Given the description of an element on the screen output the (x, y) to click on. 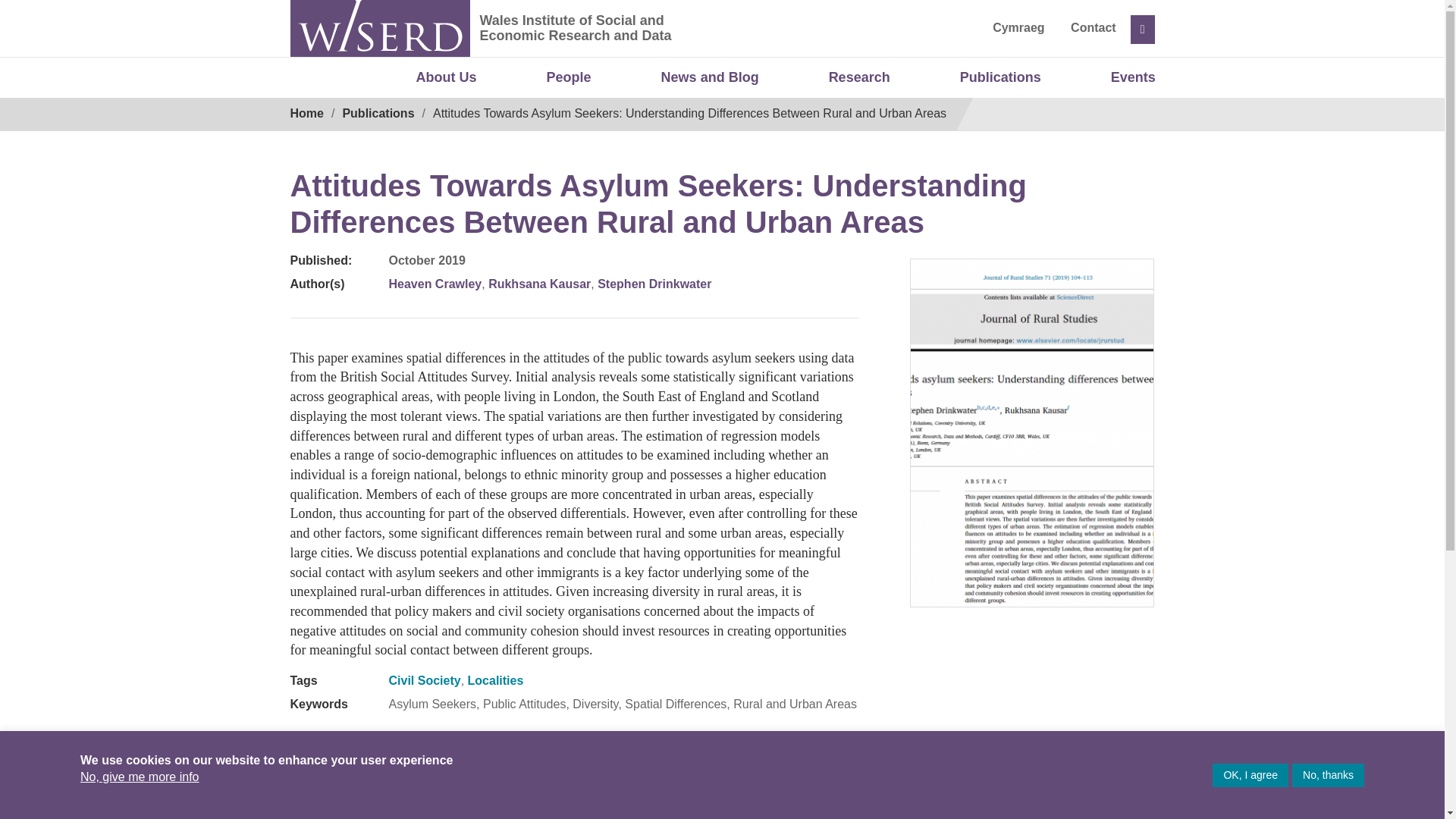
Contact (1092, 27)
Cymraeg (1018, 27)
Civil Society (424, 680)
Heaven Crawley (434, 283)
View publication (767, 762)
Localities (495, 680)
Publications (999, 78)
About Us (446, 78)
Stephen Drinkwater (653, 283)
Rukhsana Kausar (539, 283)
Wales Institute of Social and Economic Research and Data (690, 41)
Research (859, 78)
WISERD (378, 28)
Events (1133, 78)
People (568, 78)
